Given the description of an element on the screen output the (x, y) to click on. 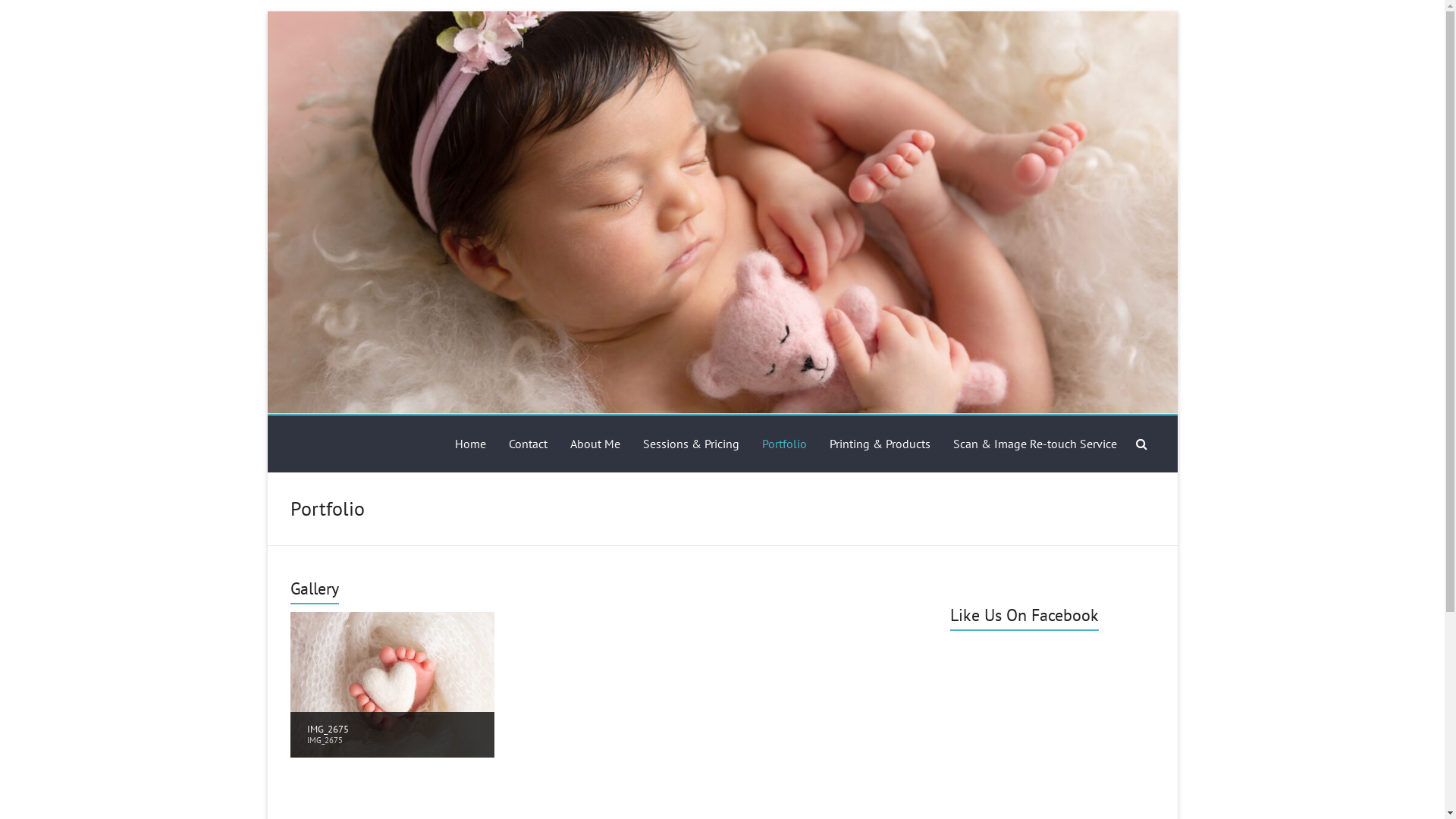
Scan & Image Re-touch Service Element type: text (1034, 443)
Printing & Products Element type: text (879, 443)
Leanne Handreck Photography Element type: text (473, 432)
Portfolio Element type: text (783, 443)
IMG_2663
IMG_2663 Element type: text (391, 682)
Sessions & Pricing Element type: text (691, 443)
About Me Element type: text (595, 443)
Contact Element type: text (527, 443)
Skip to content Element type: text (266, 10)
Home Element type: text (470, 443)
